Given the description of an element on the screen output the (x, y) to click on. 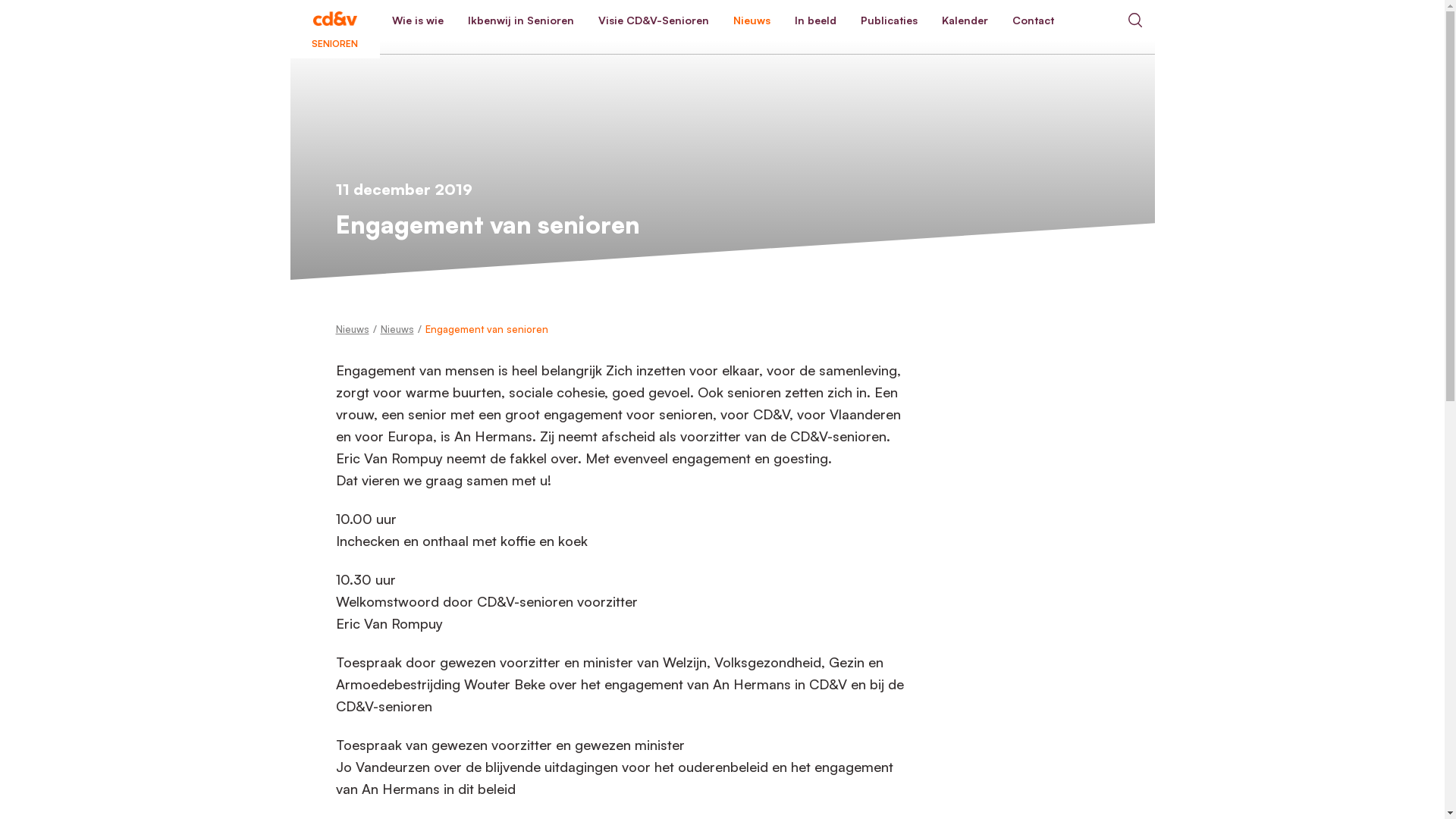
In beeld Element type: text (815, 20)
Nieuws Element type: text (351, 329)
Ikbenwij in Senioren Element type: text (520, 20)
Contact Element type: text (1032, 20)
Wie is wie Element type: text (417, 20)
Publicaties Element type: text (887, 20)
Search Element type: hover (1134, 19)
Nieuws Element type: text (397, 329)
Kalender Element type: text (964, 20)
SENIOREN Element type: text (334, 19)
Visie CD&V-Senioren Element type: text (652, 20)
Nieuws Element type: text (750, 20)
